Given the description of an element on the screen output the (x, y) to click on. 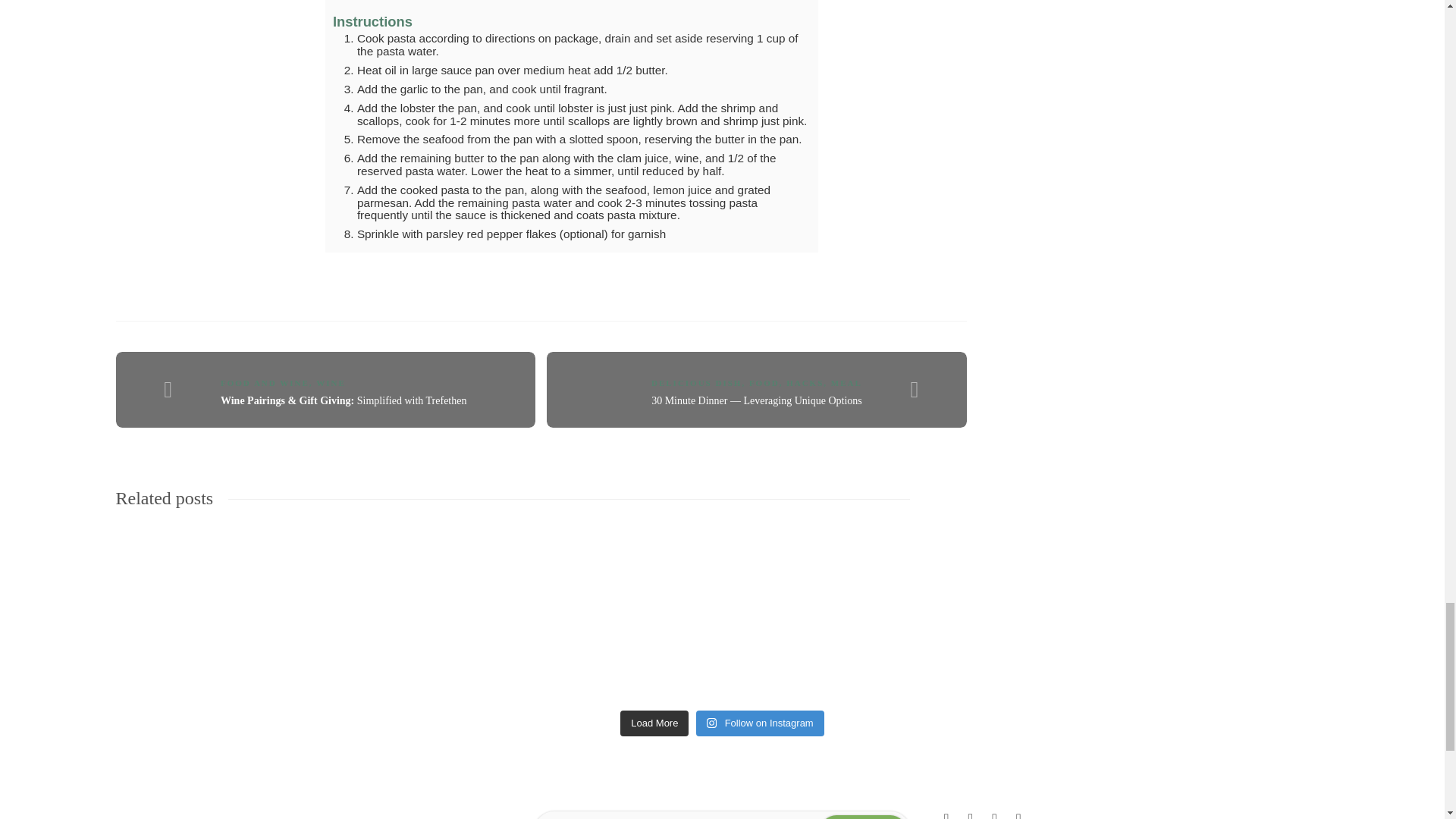
Subscribe (863, 816)
